Given the description of an element on the screen output the (x, y) to click on. 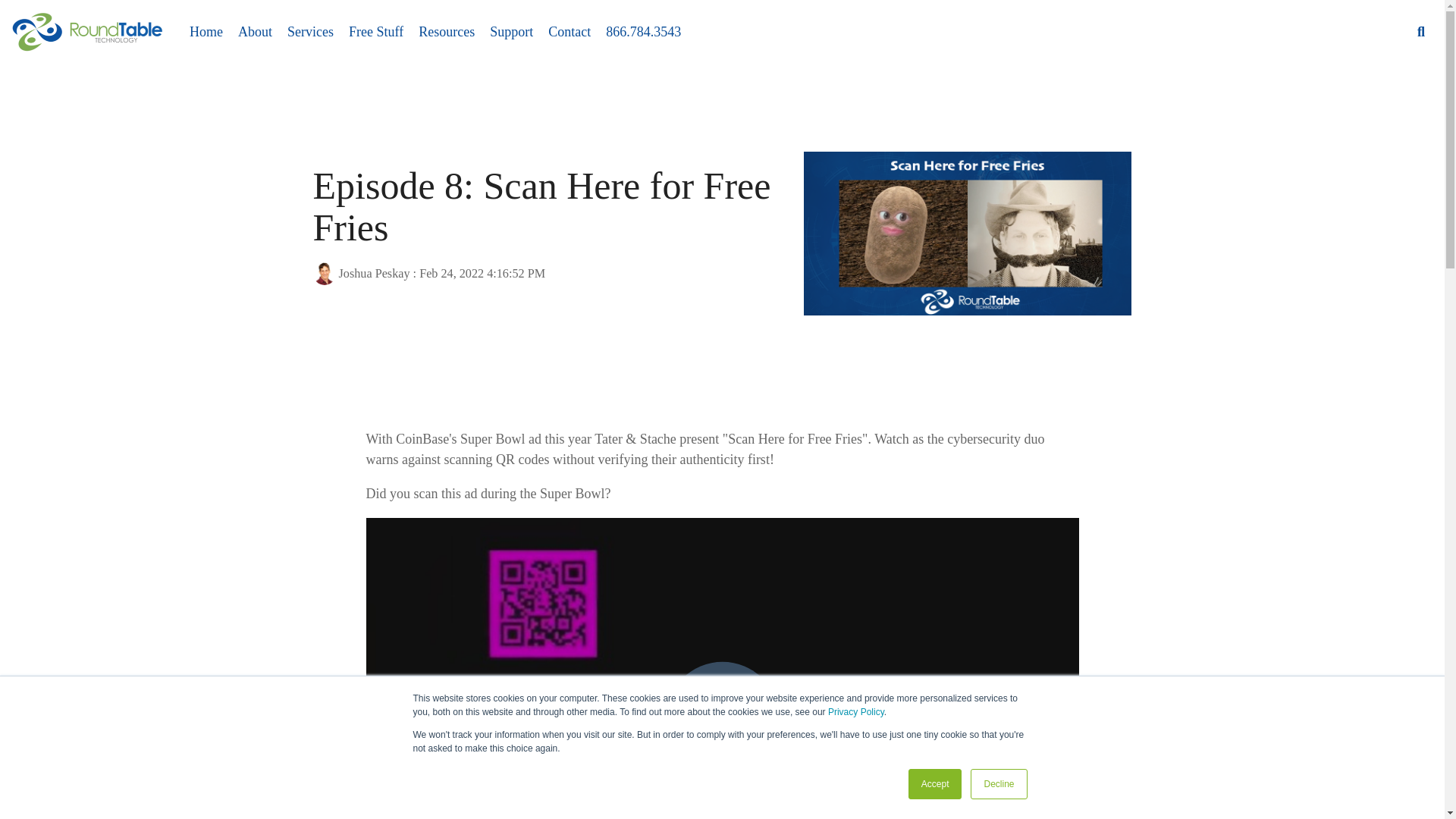
Resources (446, 31)
Home (205, 31)
Accept (935, 784)
Support (510, 31)
About (255, 31)
Privacy Policy (855, 711)
Contact (569, 31)
Decline (998, 784)
Services (309, 31)
866.784.3543 (643, 31)
Free Stuff (376, 31)
